Given the description of an element on the screen output the (x, y) to click on. 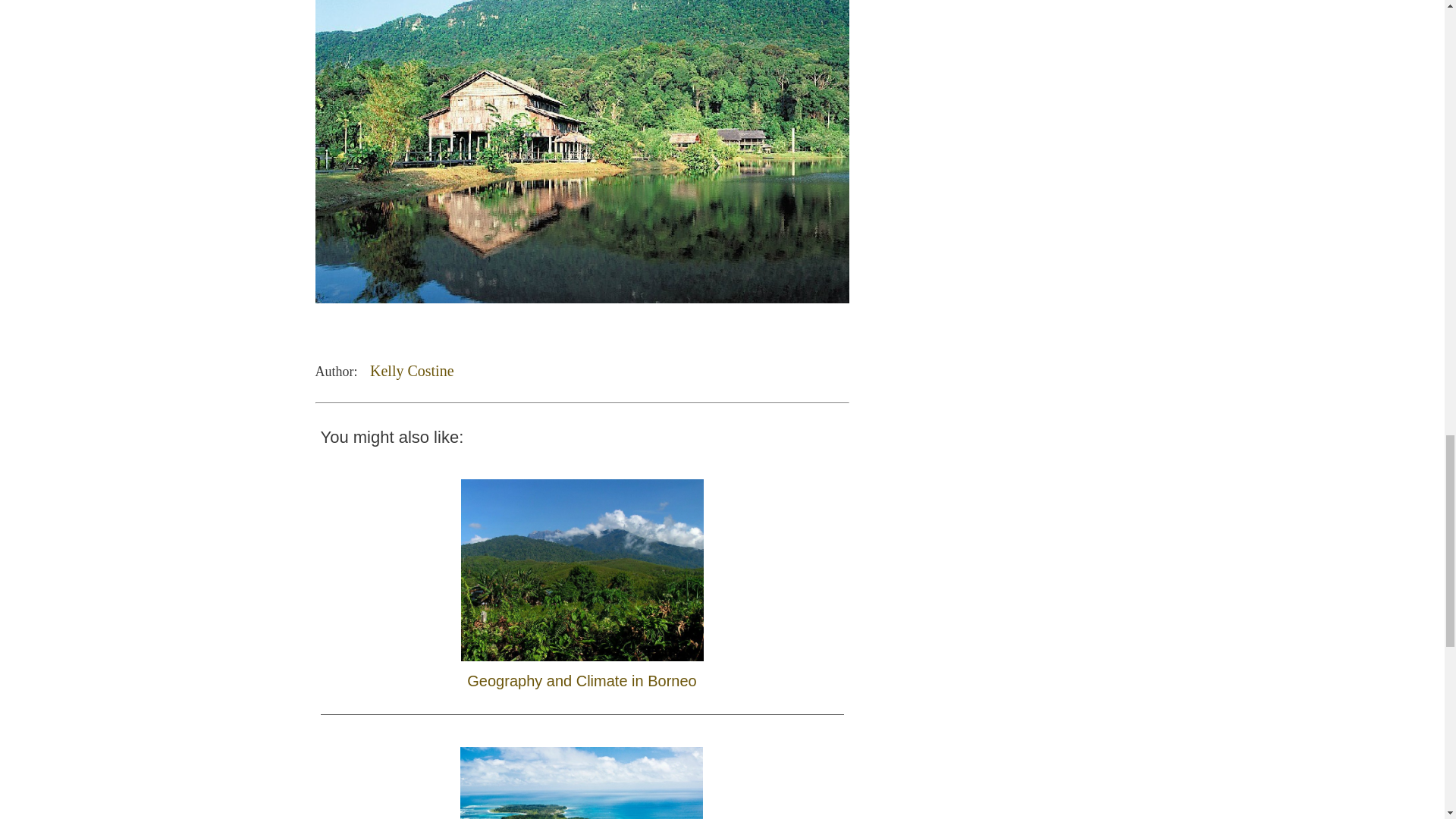
Geography and Climate in Borneo (582, 580)
Kelly Costine (412, 370)
Geography and Climate in Desroches (581, 774)
